Given the description of an element on the screen output the (x, y) to click on. 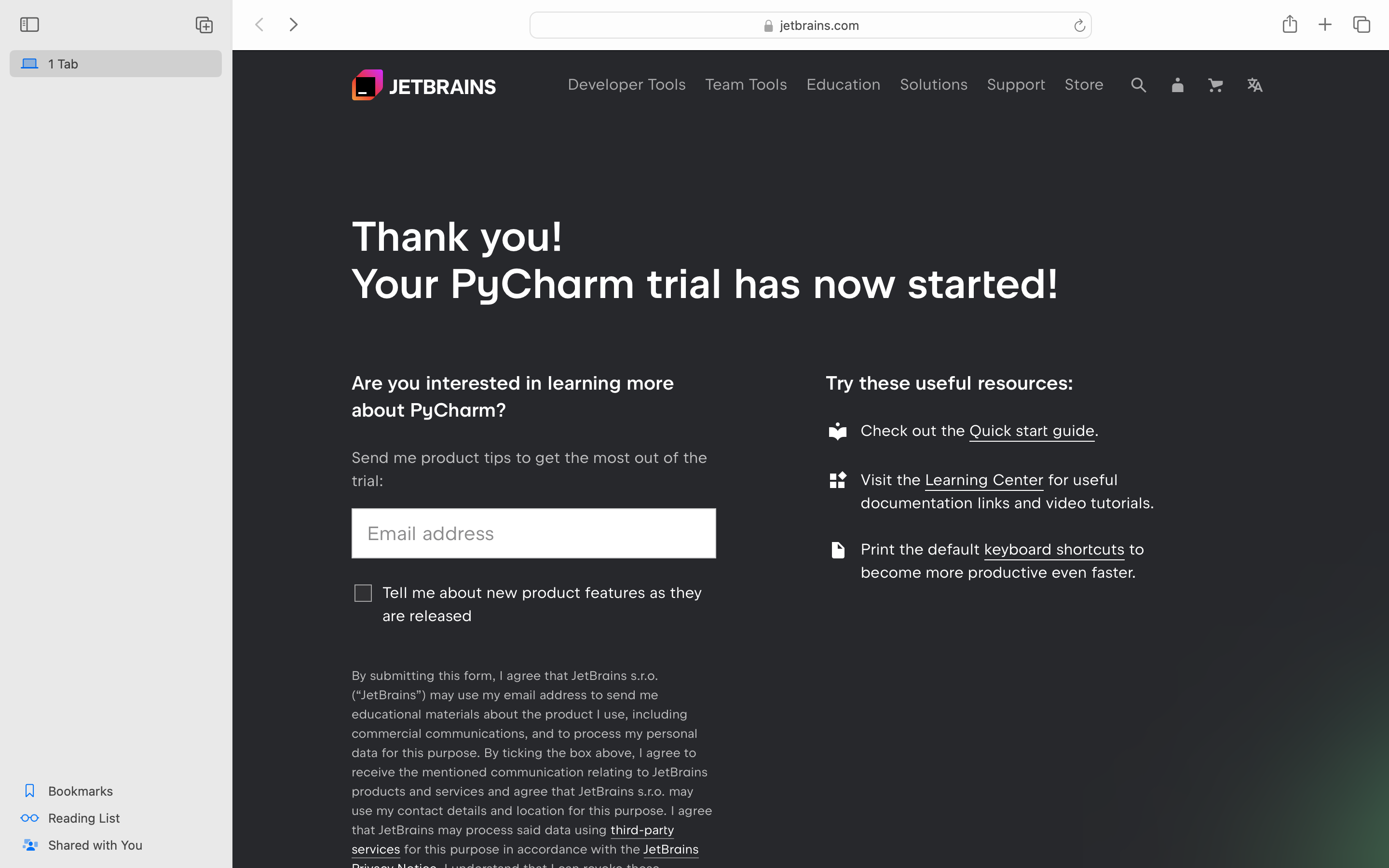
By submitting this form, I agree that JetBrains s.r.o. (“JetBrains”) may use my email address to send me educational materials about the product I use, including commercial communications, and to process my personal data for this purpose. By ticking the box above, I agree to receive the mentioned communication relating to JetBrains products and services and agree that JetBrains s.r.o. may use my contact details and location for this purpose. I agree that JetBrains may process said data using Element type: AXStaticText (531, 752)
for useful documentation links and video tutorials. Element type: AXStaticText (1007, 491)
Are you interested in learning more about PyCharm? Element type: AXStaticText (512, 396)
Check out the Element type: AXStaticText (915, 430)
Learning Center Element type: AXStaticText (984, 479)
